Given the description of an element on the screen output the (x, y) to click on. 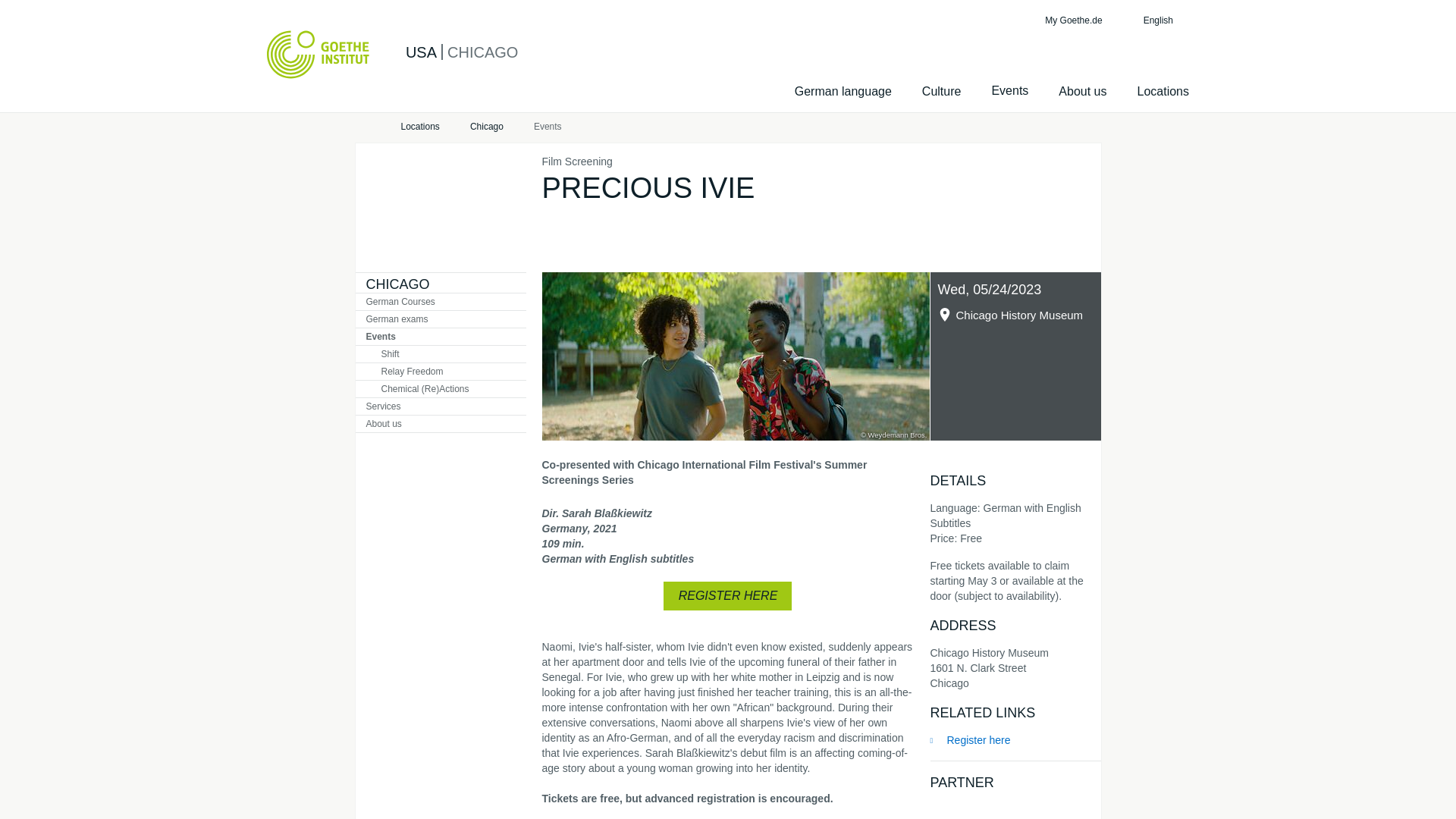
Locations (1163, 91)
About us (1082, 91)
Precious Ivie (734, 355)
German language (842, 91)
Relay Freedom (440, 371)
Home (362, 127)
Locations (419, 127)
Claim Goethe Institut (317, 54)
Services (440, 406)
German Courses (440, 301)
My Goethe.de (1070, 20)
Shift (440, 353)
About us (440, 423)
Chicago (486, 127)
Chicago (486, 127)
